Given the description of an element on the screen output the (x, y) to click on. 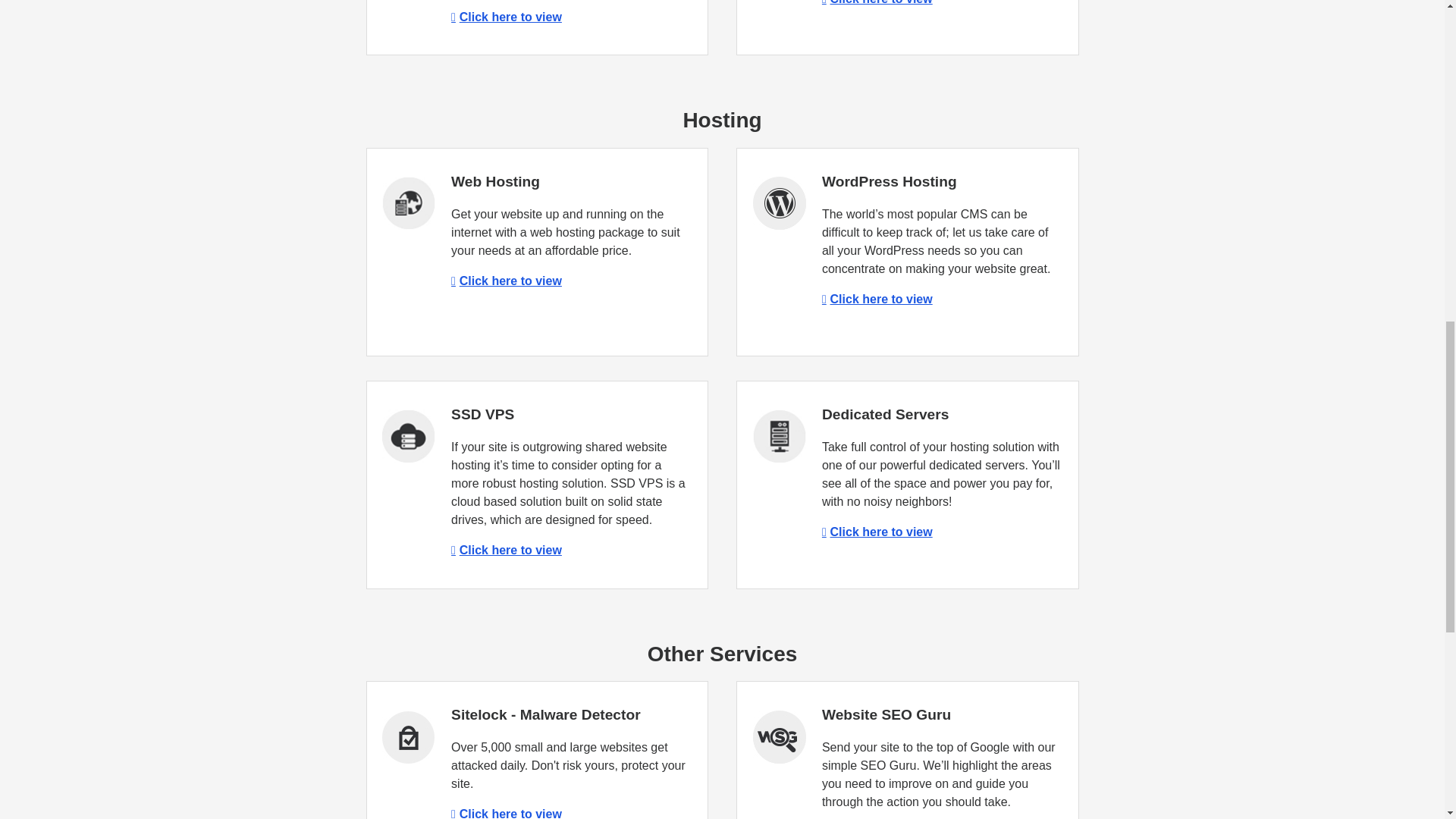
Click here to view (506, 813)
Click here to view (506, 280)
Click here to view (877, 531)
Click here to view (877, 2)
Click here to view (506, 549)
Click here to view (506, 16)
Click here to view (877, 298)
